Given the description of an element on the screen output the (x, y) to click on. 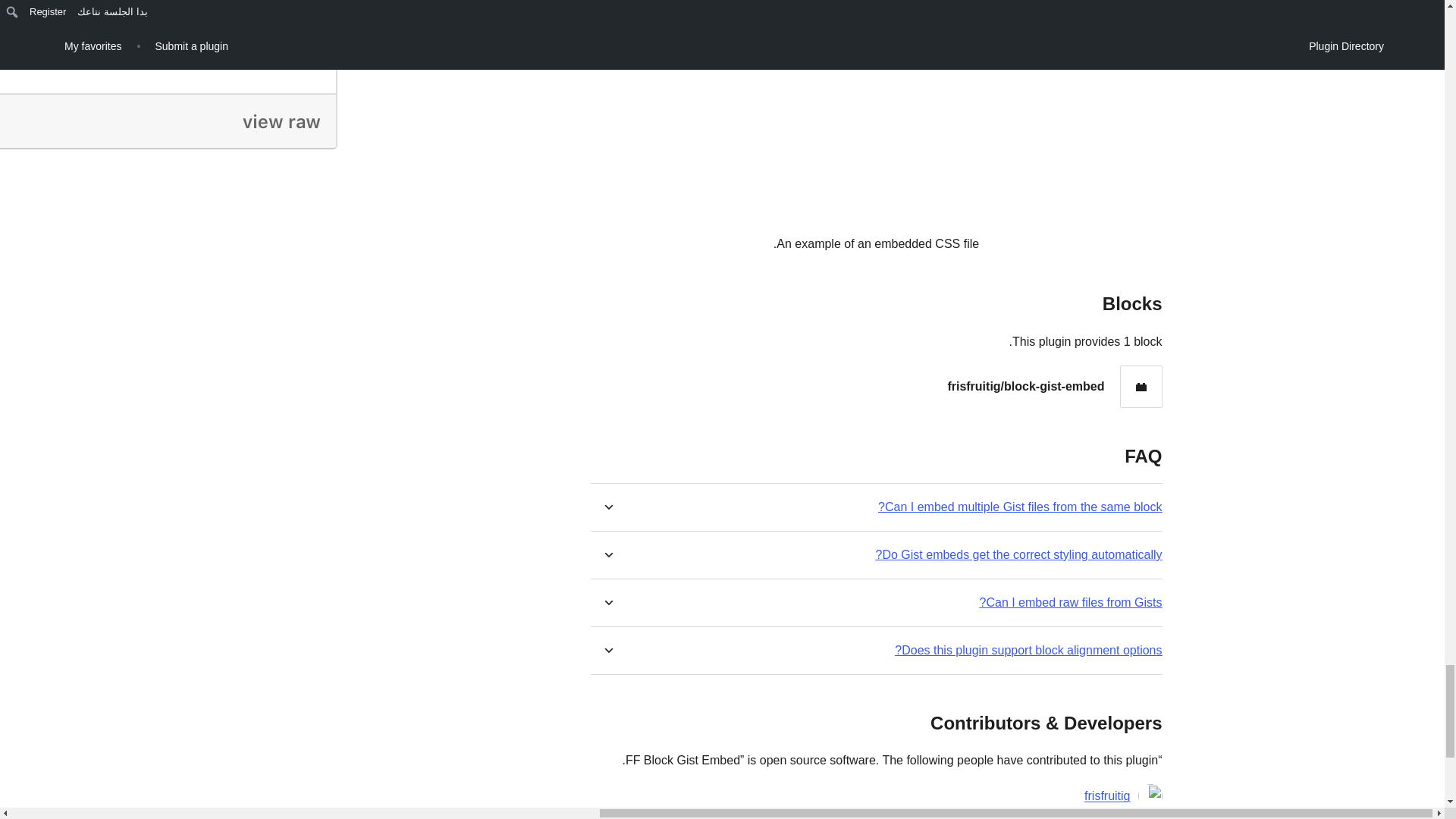
Can I embed raw files from Gists? (1070, 602)
Does this plugin support block alignment options? (1028, 649)
Can I embed multiple Gist files from the same block? (1019, 506)
Do Gist embeds get the correct styling automatically? (1018, 554)
